Given the description of an element on the screen output the (x, y) to click on. 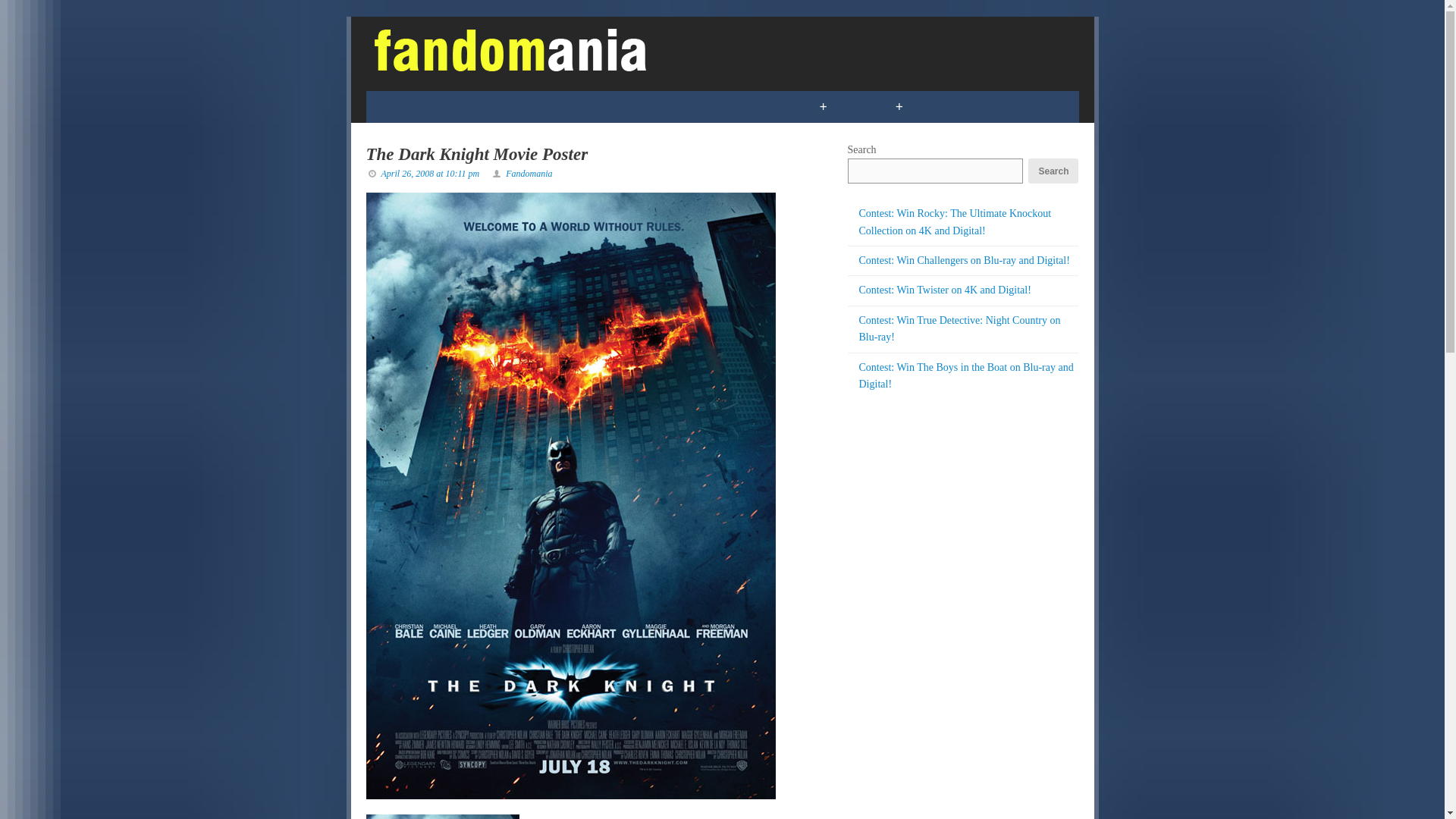
Music (676, 106)
April 26, 2008 at 10:11 pm (429, 173)
Search (1052, 170)
Games (478, 106)
About (1015, 106)
Comics (403, 106)
Contests (757, 106)
Posts by Fandomania (528, 173)
Fandomania (528, 173)
Movies (602, 106)
The Dark Knight Movie Poster (476, 153)
TV (539, 106)
